Given the description of an element on the screen output the (x, y) to click on. 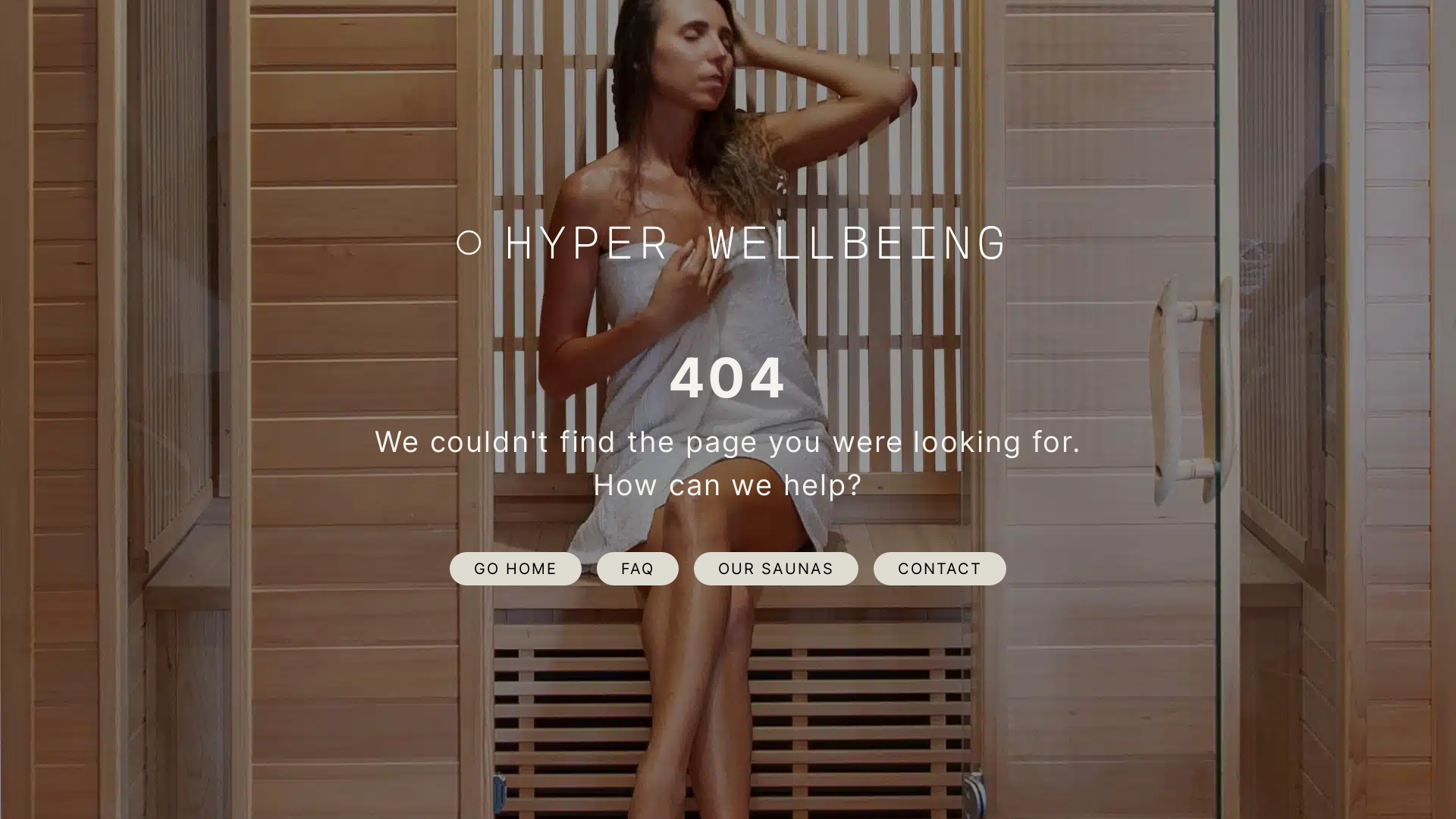
GO HOME Element type: text (515, 568)
FAQ Element type: text (637, 568)
CONTACT Element type: text (939, 568)
OUR SAUNAS Element type: text (775, 568)
